Given the description of an element on the screen output the (x, y) to click on. 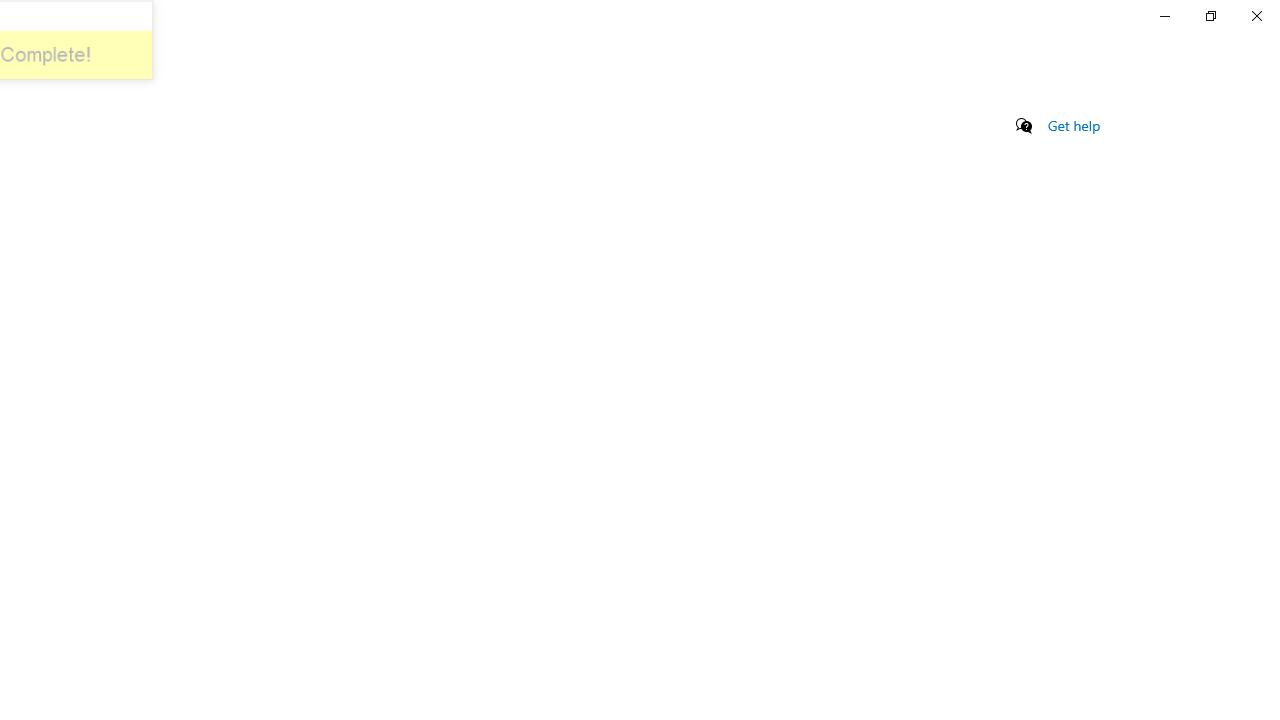
Minimize Settings (1164, 15)
Get help (1074, 125)
Close Settings (1256, 15)
Restore Settings (1210, 15)
